Given the description of an element on the screen output the (x, y) to click on. 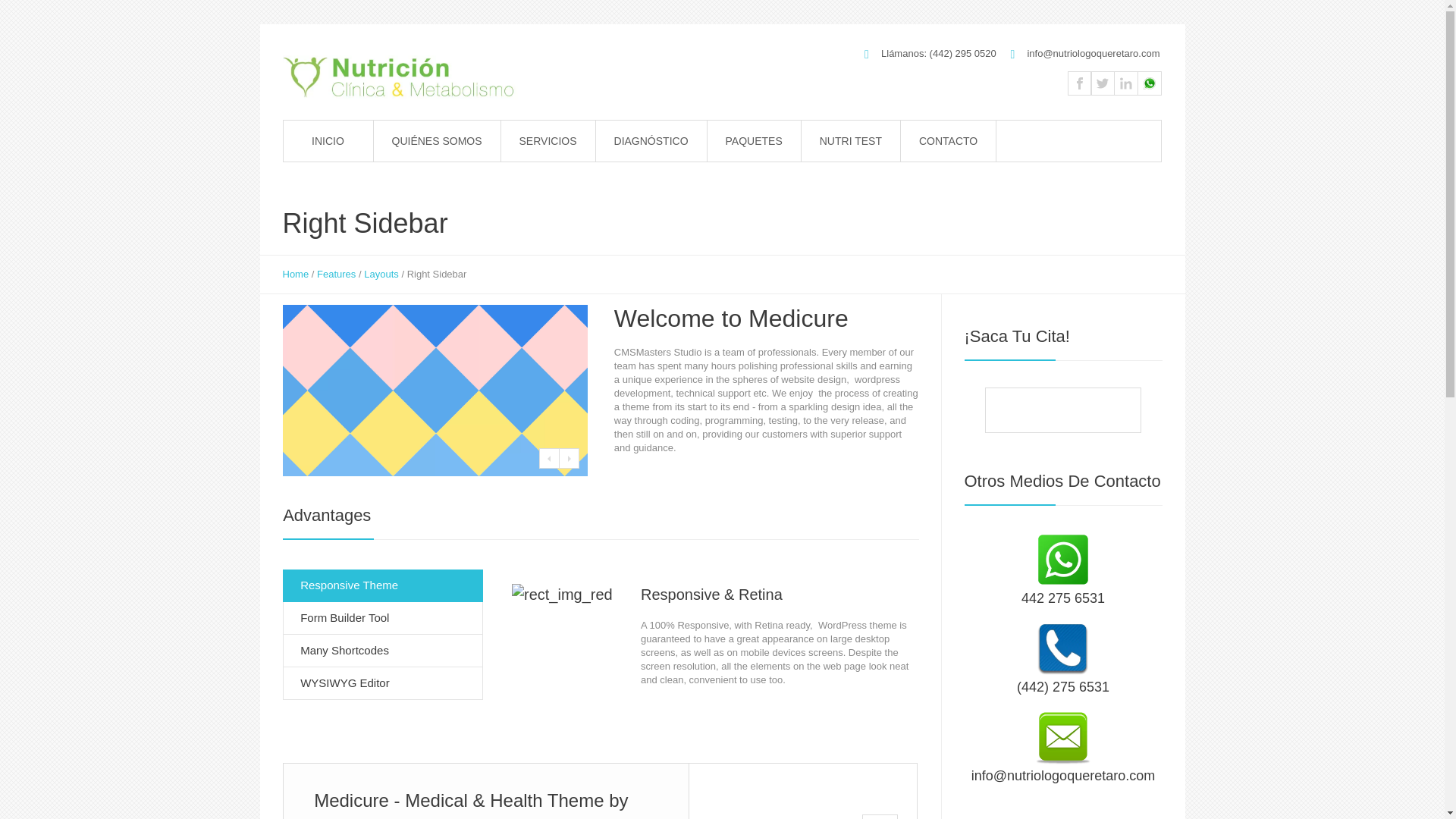
AGENDAR CITA (1062, 411)
Download! (802, 791)
Features (336, 274)
WYSIWYG Editor (382, 683)
Download! (802, 791)
SERVICIOS (547, 140)
NUTRI TEST (850, 140)
Home (295, 274)
Layouts (381, 274)
Form Builder Tool (382, 617)
Many Shortcodes (382, 650)
INICIO (327, 140)
CONTACTO (947, 140)
PAQUETES (754, 140)
Responsive Theme (382, 585)
